Given the description of an element on the screen output the (x, y) to click on. 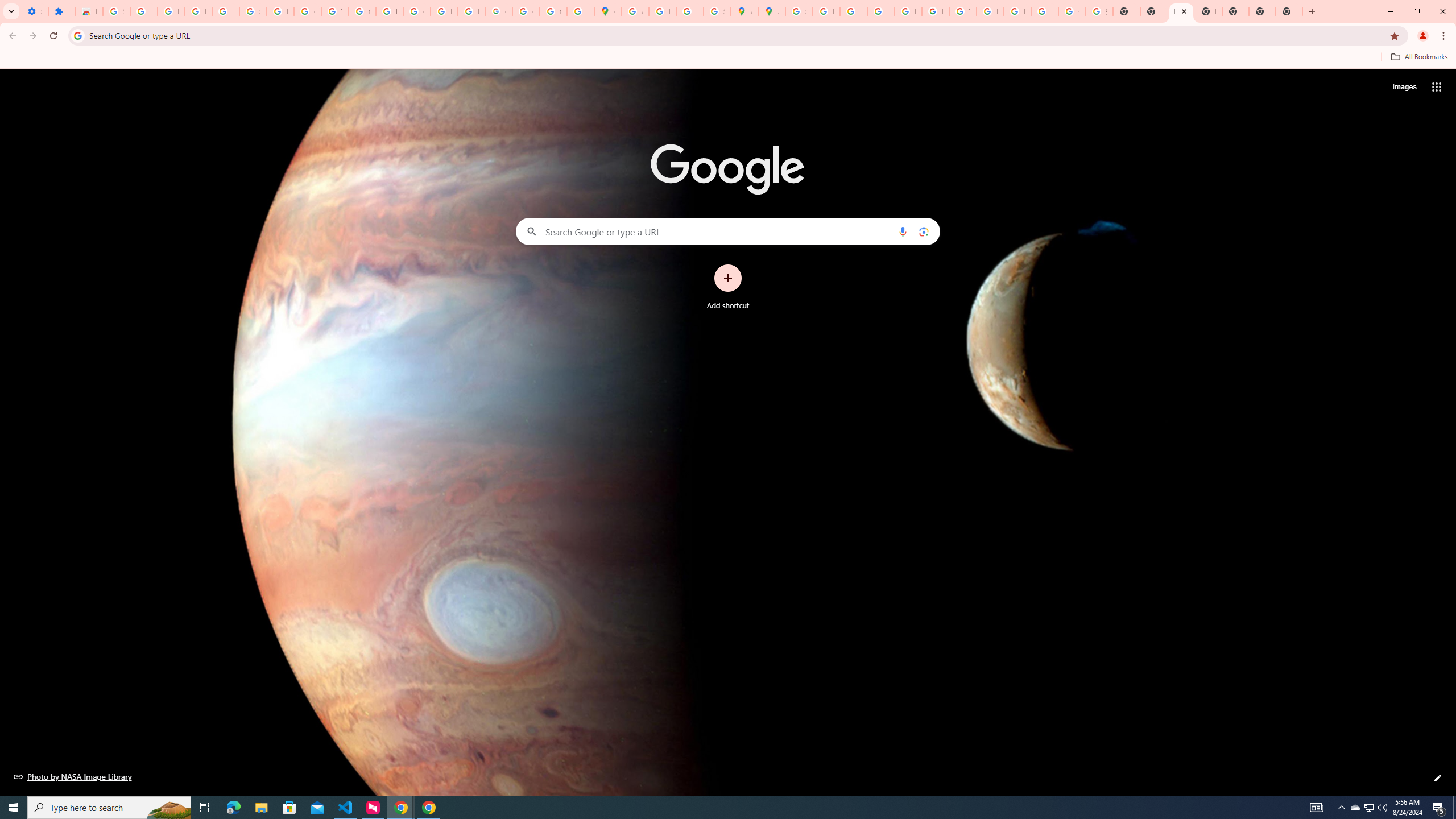
Learn how to find your photos - Google Photos Help (197, 11)
New Tab (1208, 11)
YouTube (334, 11)
Customize this page (1437, 778)
